Given the description of an element on the screen output the (x, y) to click on. 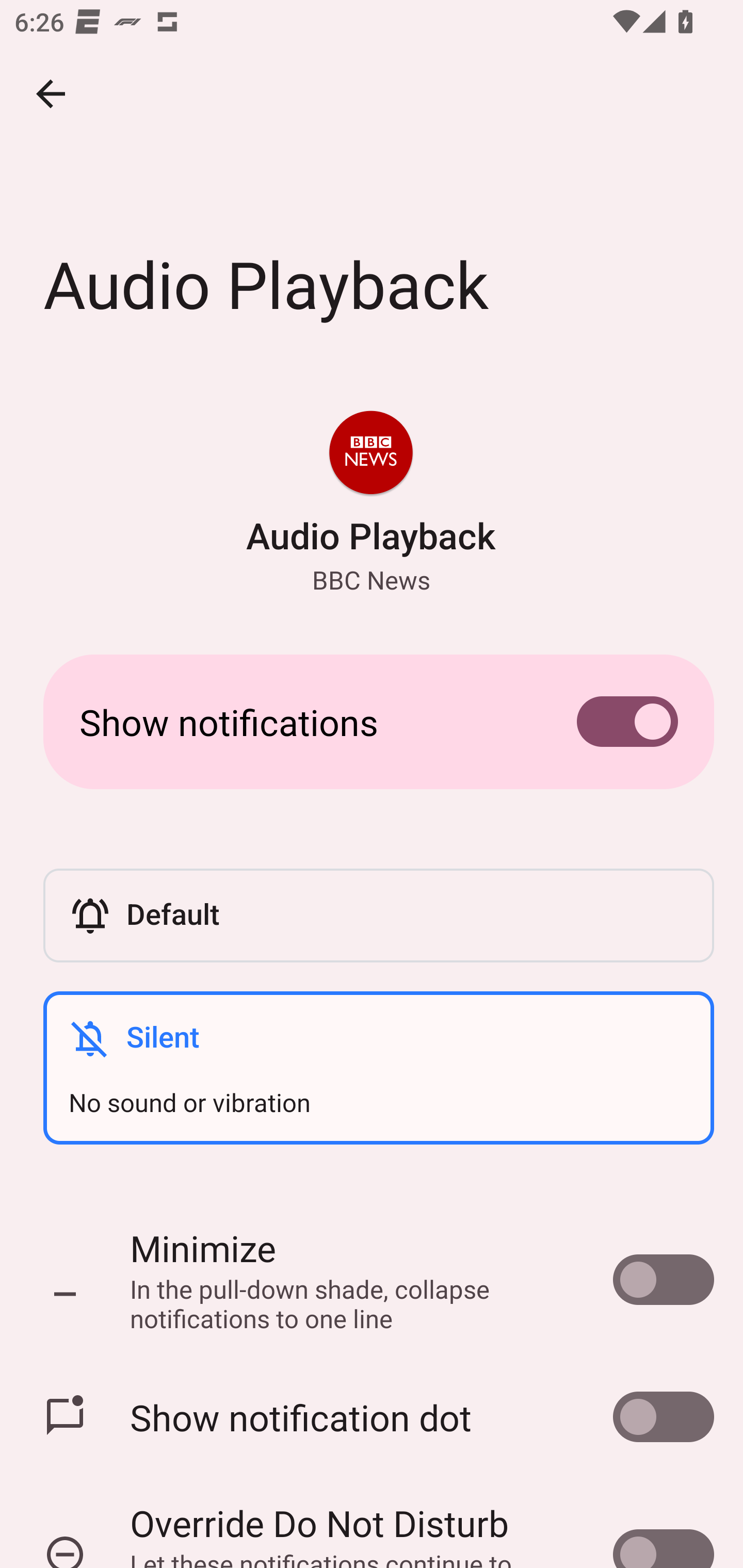
Navigate up (50, 93)
Audio Playback BBC News (370, 503)
Show notifications (371, 721)
Default (378, 915)
Silent No sound or vibration (378, 1067)
Show notification dot (371, 1417)
